Given the description of an element on the screen output the (x, y) to click on. 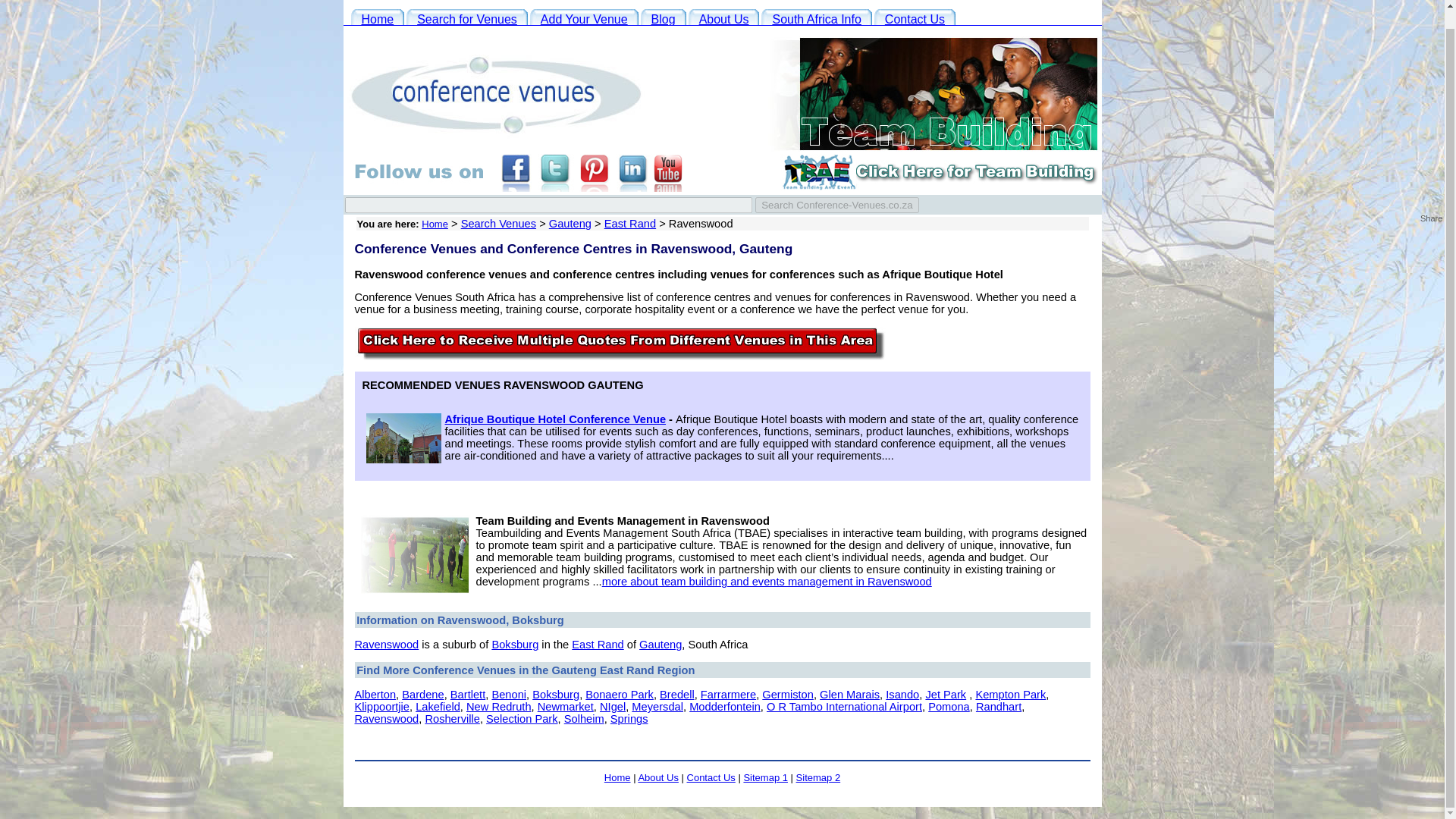
New Redruth (498, 706)
Search Conference-Venues.co.za (836, 204)
Information on South Africa (815, 18)
Benoni (508, 694)
Germiston (787, 694)
Gauteng (569, 223)
Boksburg (515, 644)
more about team building and events management in Ravenswood (766, 581)
Bredell (676, 694)
Blog (662, 18)
South Africa Info (815, 18)
East Rand (597, 644)
Contact Conference-Venues (915, 18)
Bartlett (466, 694)
Kempton Park (1010, 694)
